Given the description of an element on the screen output the (x, y) to click on. 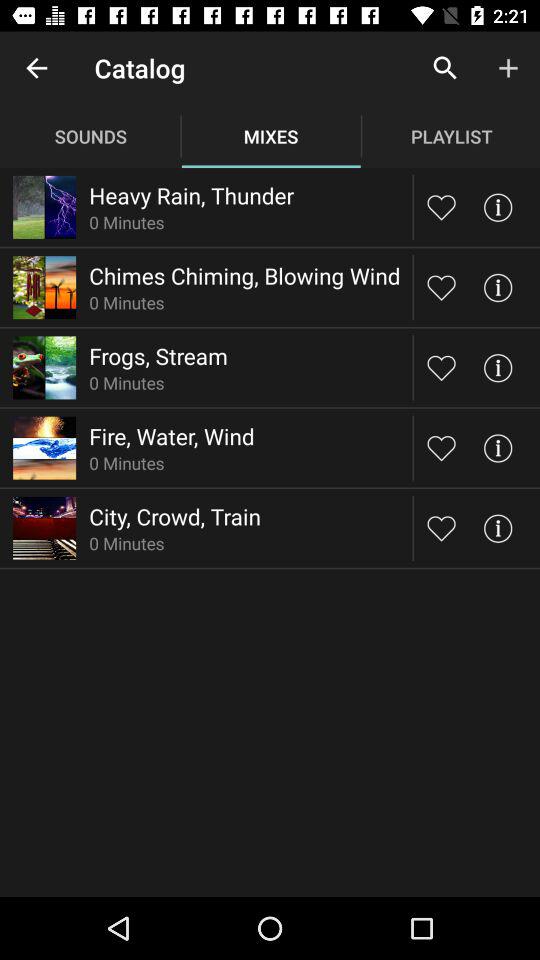
click the tick (498, 527)
